Given the description of an element on the screen output the (x, y) to click on. 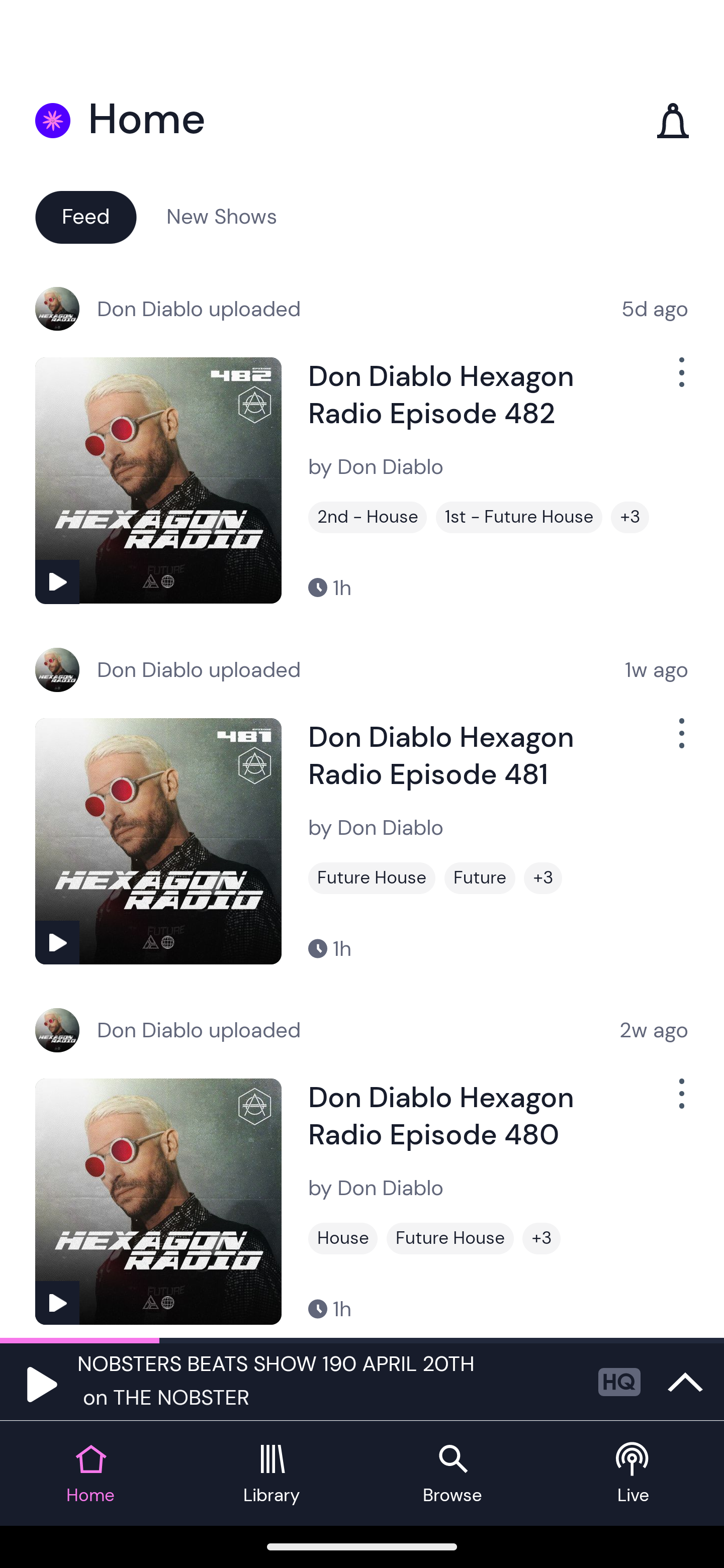
Feed (85, 216)
New Shows (221, 216)
Show Options Menu Button (679, 379)
2nd - House (367, 517)
1st - Future House (518, 517)
Show Options Menu Button (679, 740)
Future House (371, 877)
Future (479, 877)
Show Options Menu Button (679, 1101)
House (342, 1238)
Future House (450, 1238)
Home tab Home (90, 1473)
Library tab Library (271, 1473)
Browse tab Browse (452, 1473)
Live tab Live (633, 1473)
